Given the description of an element on the screen output the (x, y) to click on. 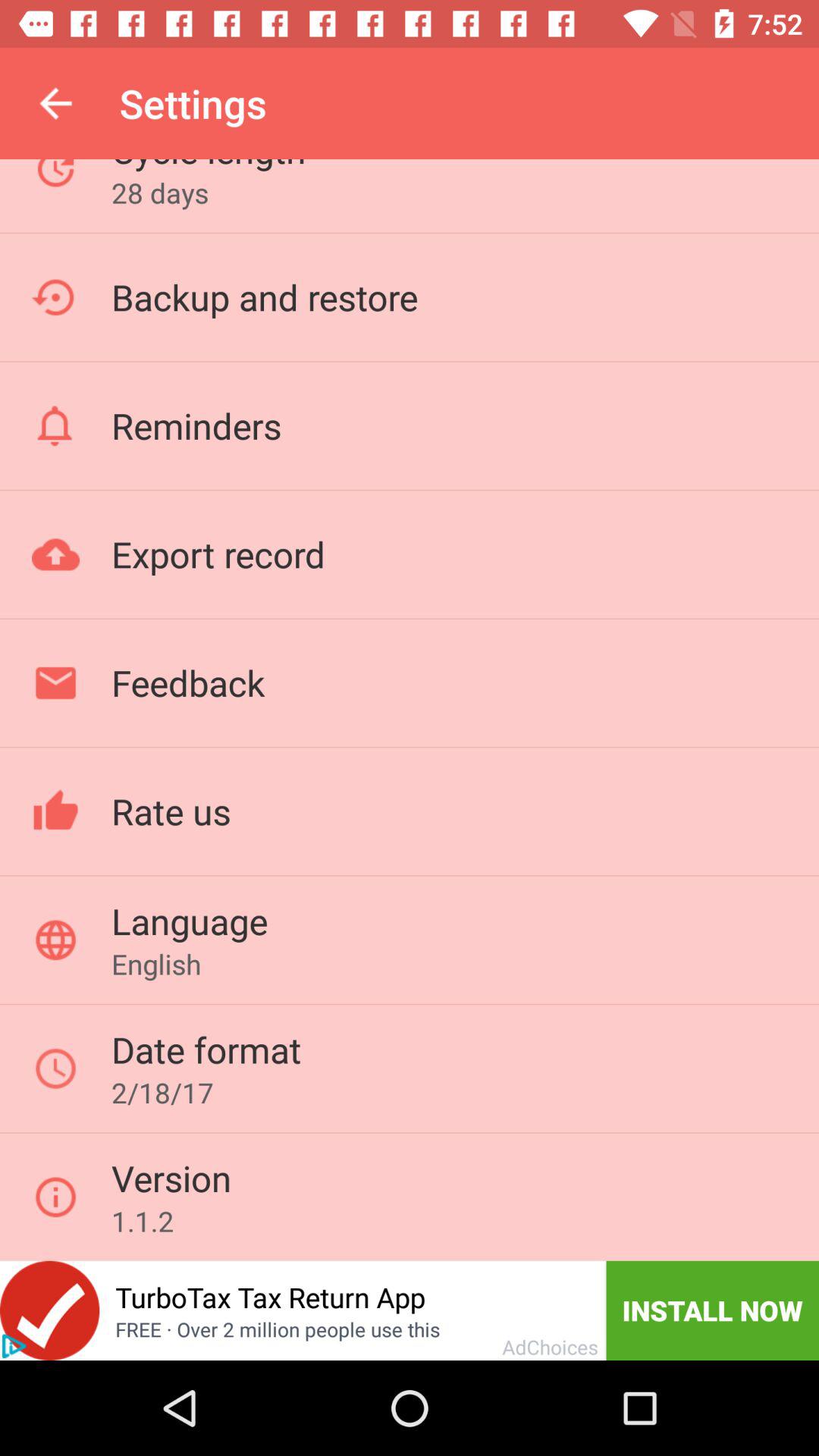
go to this app (49, 1310)
